Given the description of an element on the screen output the (x, y) to click on. 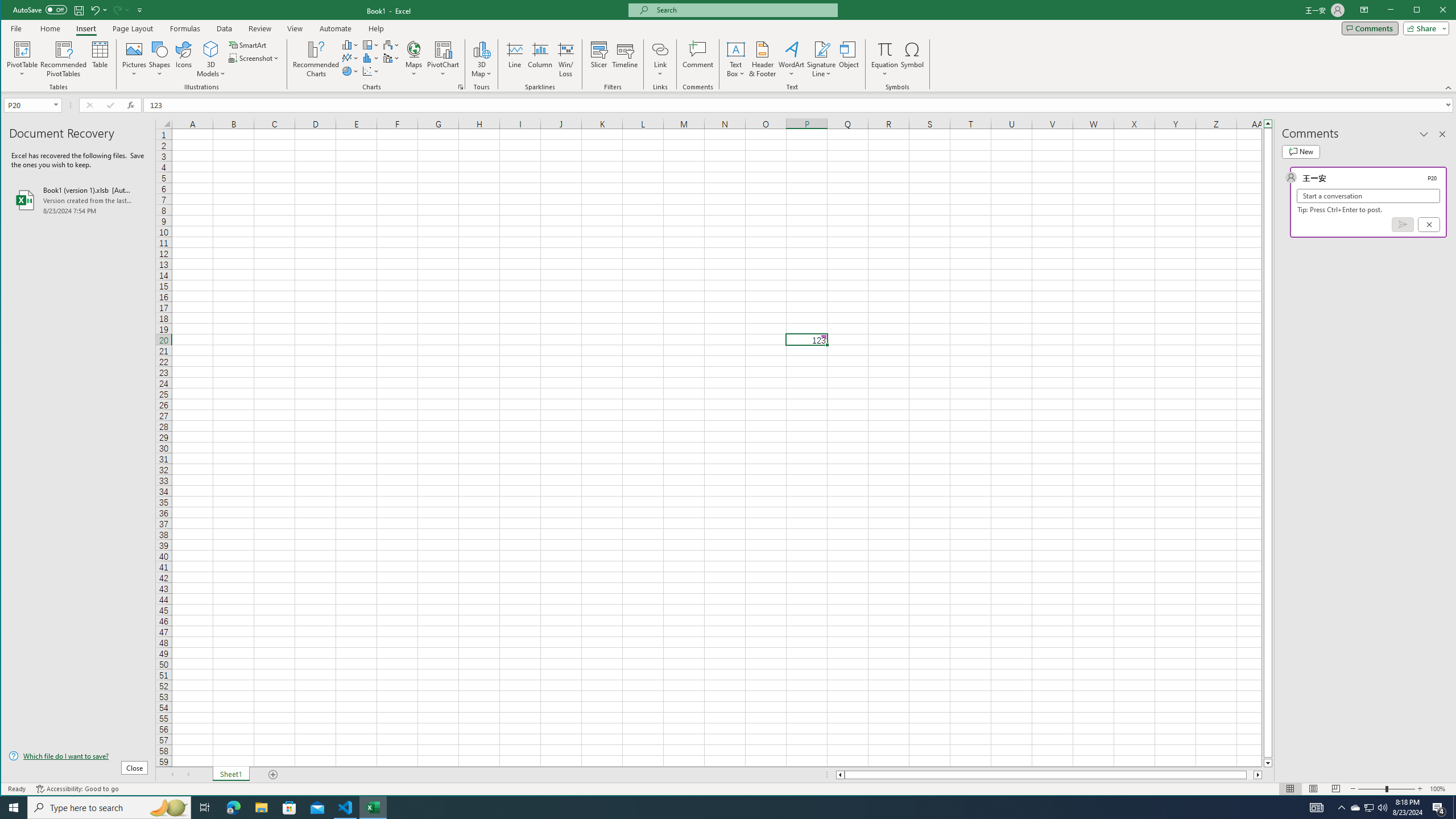
Text Box (735, 59)
Excel - 1 running window (373, 807)
SmartArt... (248, 44)
AutoSave (39, 9)
Insert Pie or Doughnut Chart (350, 70)
Microsoft search (742, 10)
Book1 (version 1).xlsb  [AutoRecovered] (78, 199)
Table (100, 59)
